Given the description of an element on the screen output the (x, y) to click on. 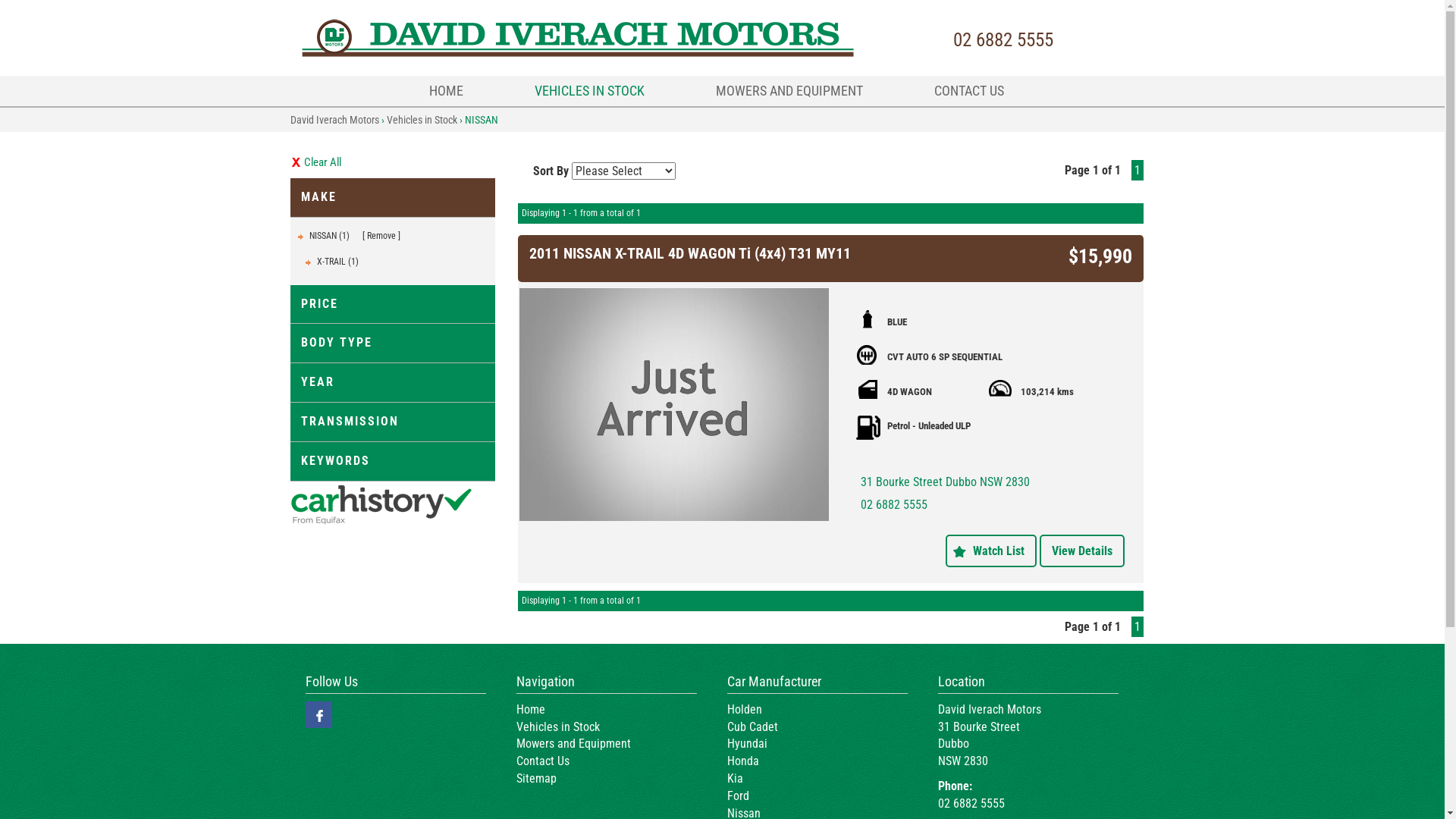
VEHICLES IN STOCK Element type: text (589, 90)
Clear All Element type: text (391, 162)
Holden Element type: text (743, 709)
Kia Element type: text (734, 778)
Vehicles in Stock Element type: text (421, 119)
facebook Element type: text (317, 714)
Sitemap Element type: text (535, 778)
1 Element type: text (1137, 626)
2011-NISSAN-X-TRAIL Element type: hover (673, 403)
Contact Us Element type: text (541, 760)
Remove Element type: text (381, 235)
02 6882 5555 Element type: text (1001, 39)
Home Element type: text (529, 709)
02 6882 5555 Element type: text (970, 803)
31 Bourke Street Dubbo NSW 2830 Element type: text (944, 481)
$15,990 Element type: text (1099, 255)
02 6882 5555 Element type: text (893, 504)
CONTACT US Element type: text (969, 90)
NISSAN Element type: text (480, 119)
Cub Cadet Element type: text (751, 726)
Watch List Element type: text (989, 550)
1 Element type: text (1137, 170)
Vehicles in Stock Element type: text (557, 726)
MOWERS AND EQUIPMENT Element type: text (789, 90)
Mowers and Equipment Element type: text (572, 743)
Honda Element type: text (742, 760)
View Details Element type: text (1080, 550)
Ford Element type: text (737, 795)
David Iverach Motors Element type: text (333, 119)
HOME Element type: text (446, 90)
X-TRAIL (1) Element type: text (337, 261)
Hyundai Element type: text (746, 743)
2011 NISSAN X-TRAIL 4D WAGON Ti (4x4) T31 MY11 Element type: text (689, 253)
